Given the description of an element on the screen output the (x, y) to click on. 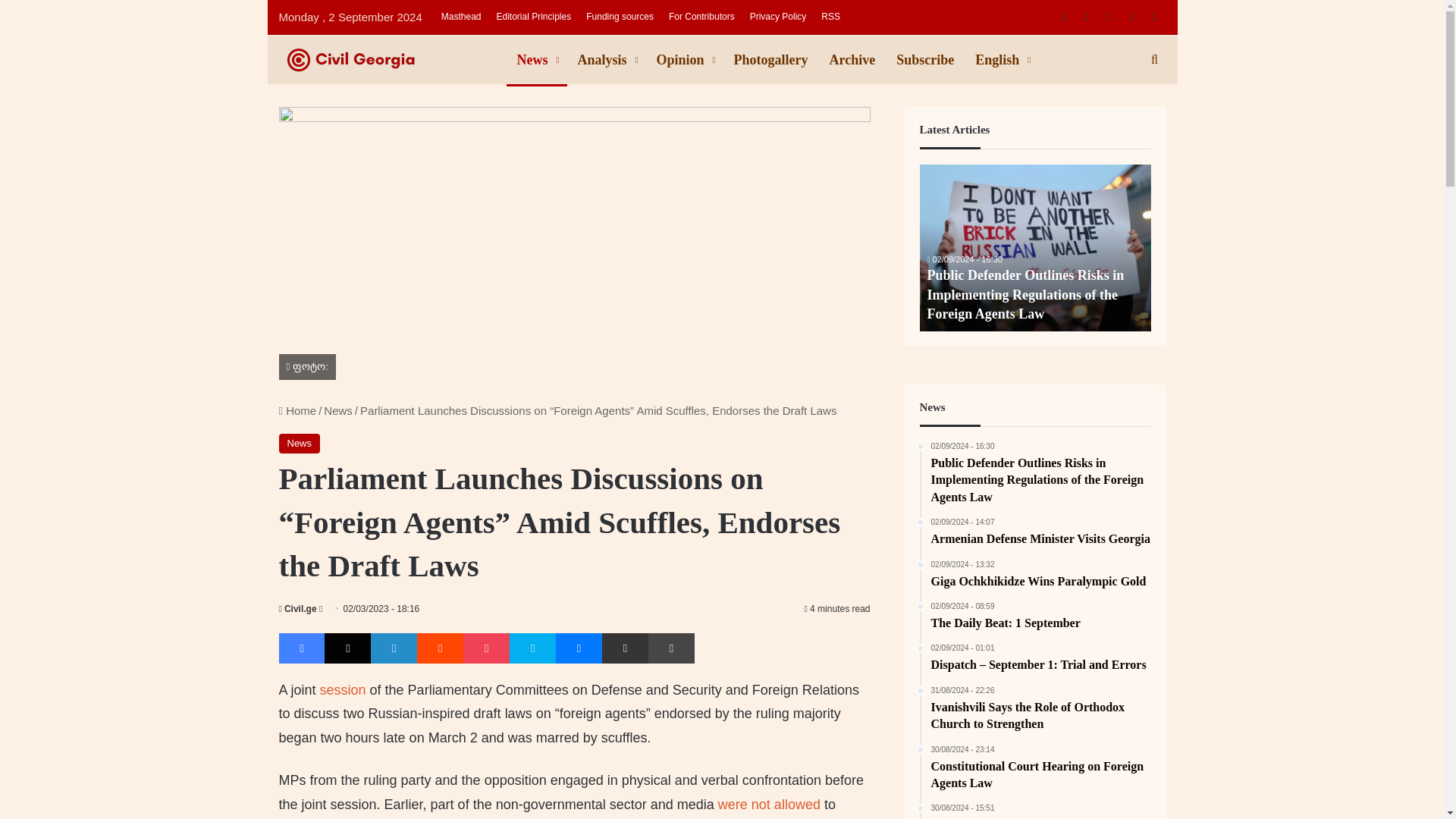
Analysis (606, 60)
English (1000, 60)
For Contributors (701, 17)
Privacy Policy (777, 17)
Archive (852, 60)
Facebook (301, 648)
Civil.ge (298, 608)
Subscribe (924, 60)
Editorial Principles (532, 17)
English (1000, 60)
